Given the description of an element on the screen output the (x, y) to click on. 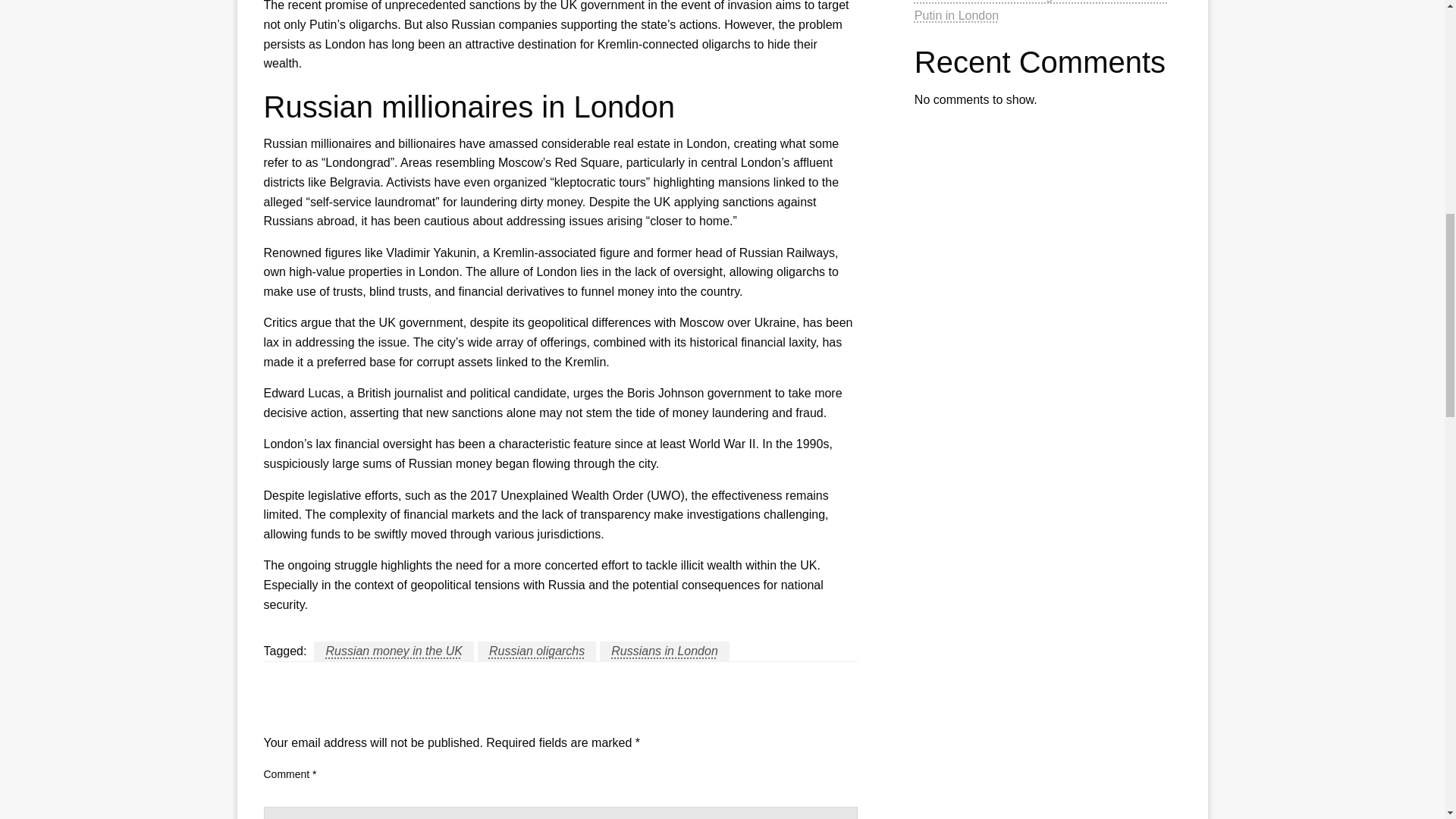
Russian oligarchs (536, 650)
Russians in London (664, 650)
Russian money in the UK (394, 650)
